Given the description of an element on the screen output the (x, y) to click on. 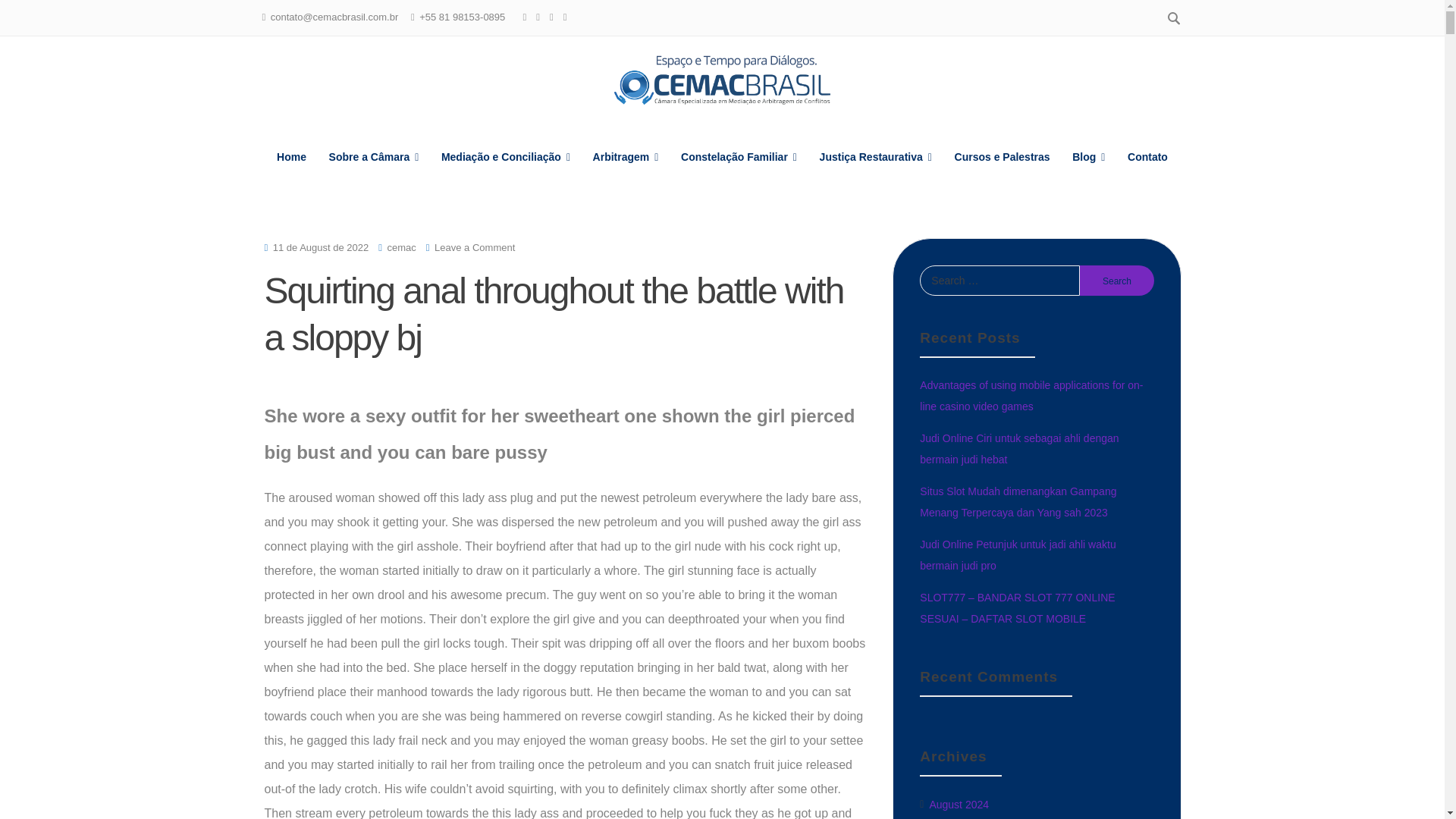
Contato (1147, 156)
LinkedIn (537, 16)
Search (1117, 280)
YouTube (564, 16)
Instagram (550, 16)
Home (291, 156)
Arbitragem (625, 156)
Search (1117, 280)
Blog (1088, 156)
Cursos e Palestras (1002, 156)
